Given the description of an element on the screen output the (x, y) to click on. 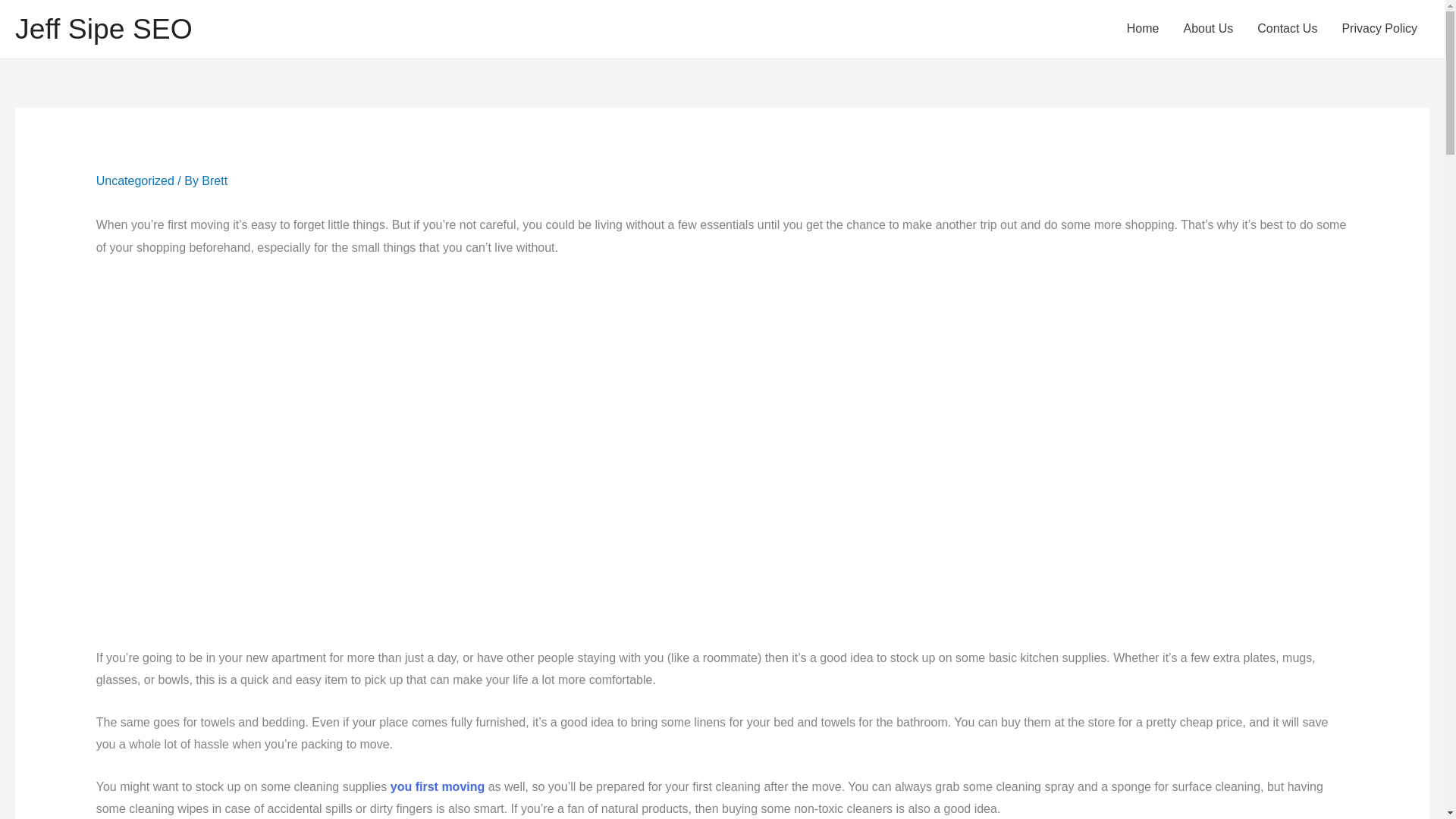
Jeff Sipe SEO (103, 29)
Contact Us (1286, 29)
View all posts by Brett (214, 180)
you first moving (437, 786)
Brett (214, 180)
Home (1143, 29)
Uncategorized (135, 180)
Privacy Policy (1379, 29)
About Us (1207, 29)
